Given the description of an element on the screen output the (x, y) to click on. 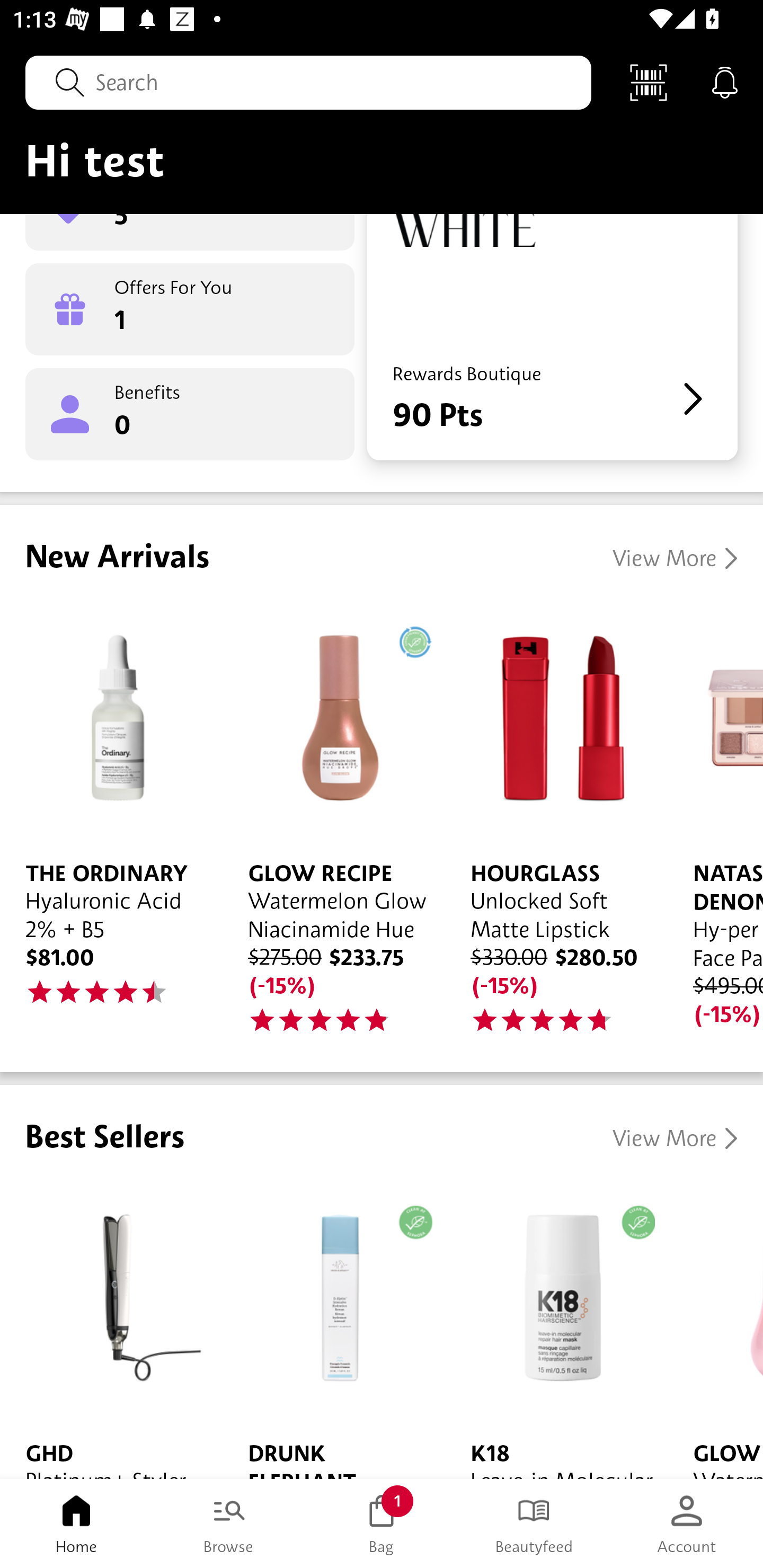
Scan Code (648, 81)
Notifications (724, 81)
Search (308, 81)
Rewards Boutique 90 Pts (552, 336)
Offers For You 1 (189, 309)
Benefits 0 (189, 414)
View More (674, 558)
THE ORDINARY Hyaluronic Acid 2% + B5 $81.00 45.0 (111, 817)
View More (674, 1138)
GHD Platinum+ Styler (111, 1330)
DRUNK ELEPHANT (333, 1330)
K18 Leave-in Molecular Repair Hair Mask (555, 1330)
Browse (228, 1523)
Bag 1 Bag (381, 1523)
Beautyfeed (533, 1523)
Account (686, 1523)
